Given the description of an element on the screen output the (x, y) to click on. 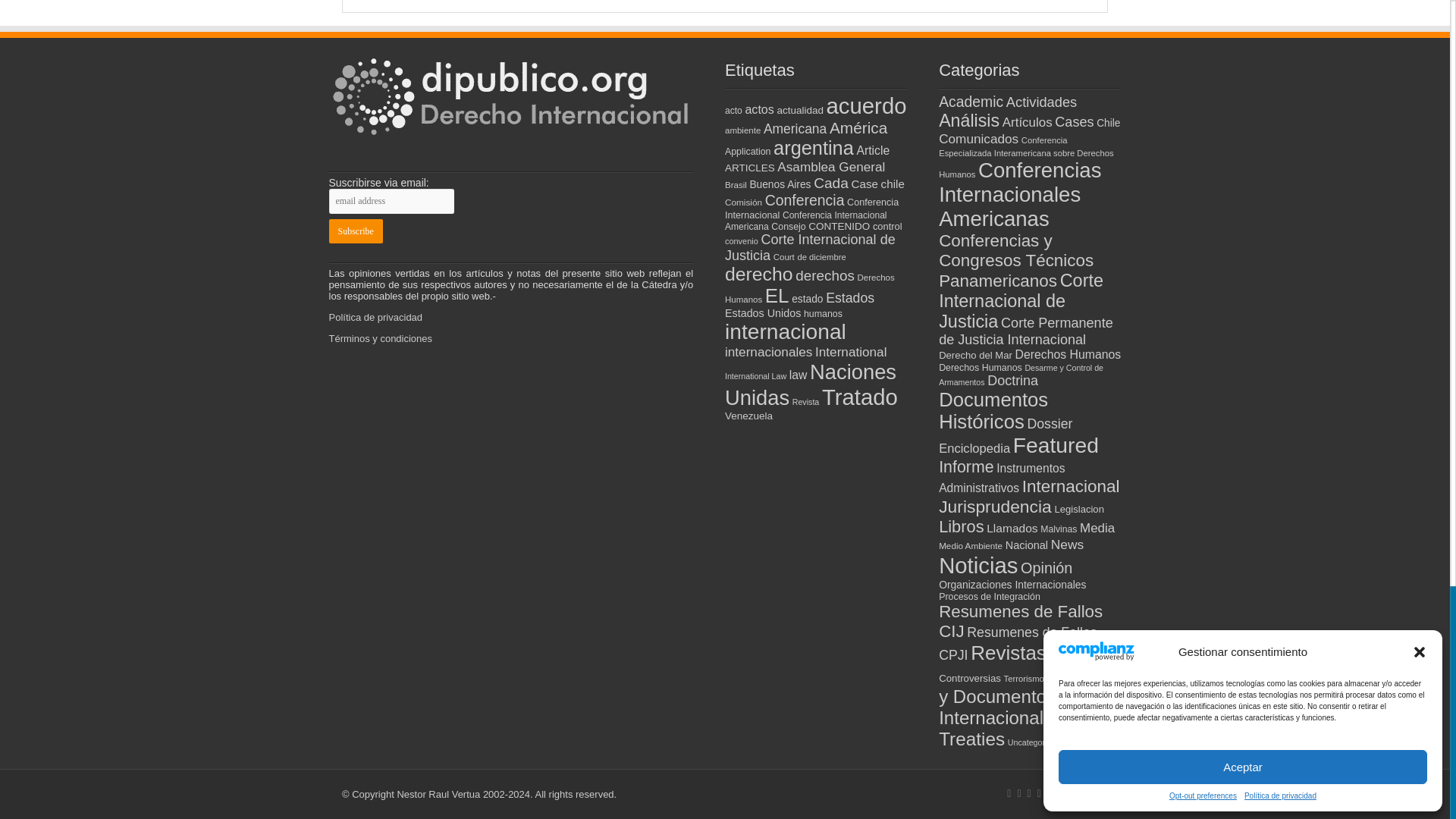
Subscribe (355, 231)
